Given the description of an element on the screen output the (x, y) to click on. 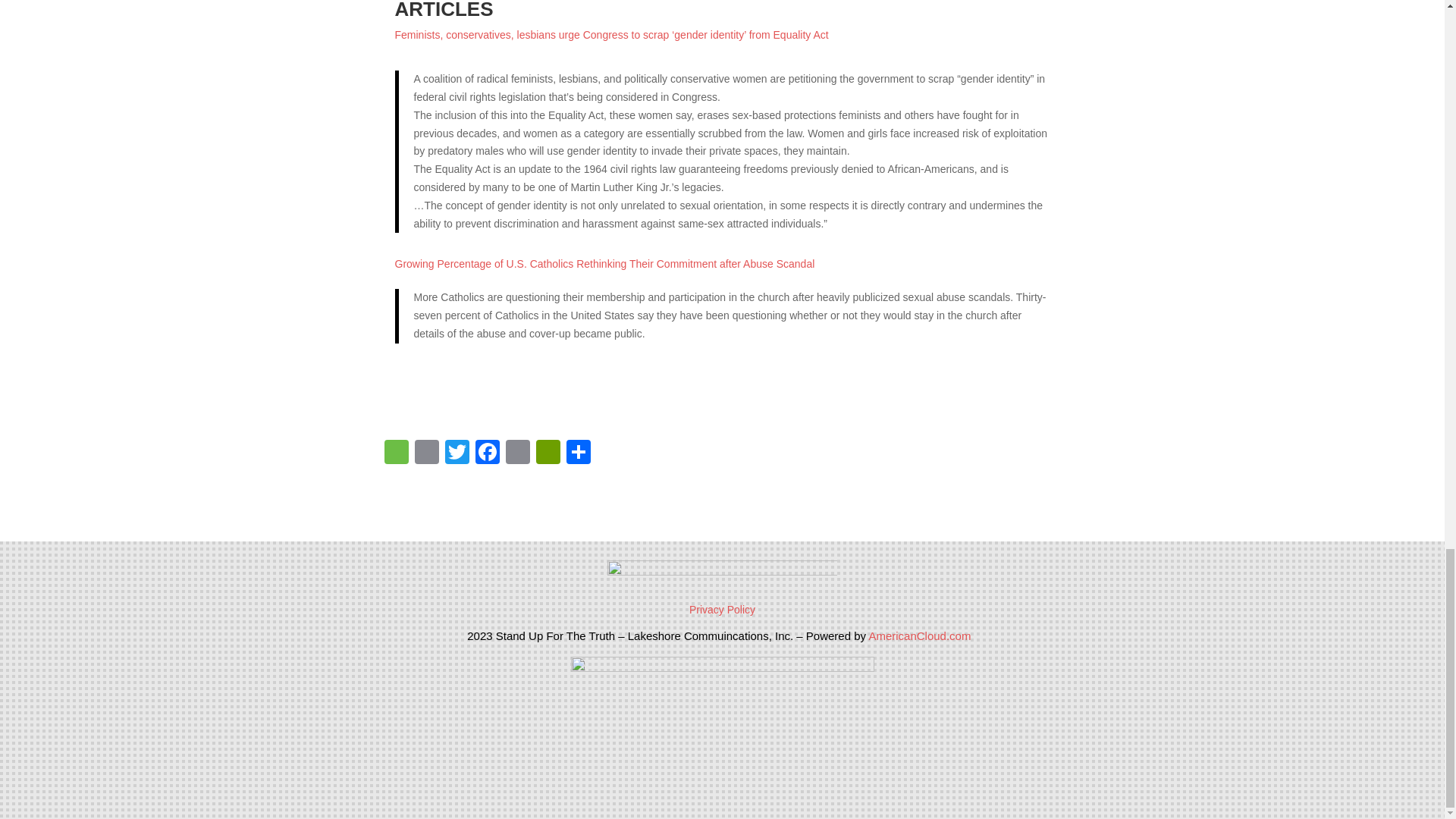
Twitter (456, 453)
Facebook (486, 453)
Message (395, 453)
PrintFriendly (547, 453)
Copy Link (425, 453)
Email (517, 453)
